Given the description of an element on the screen output the (x, y) to click on. 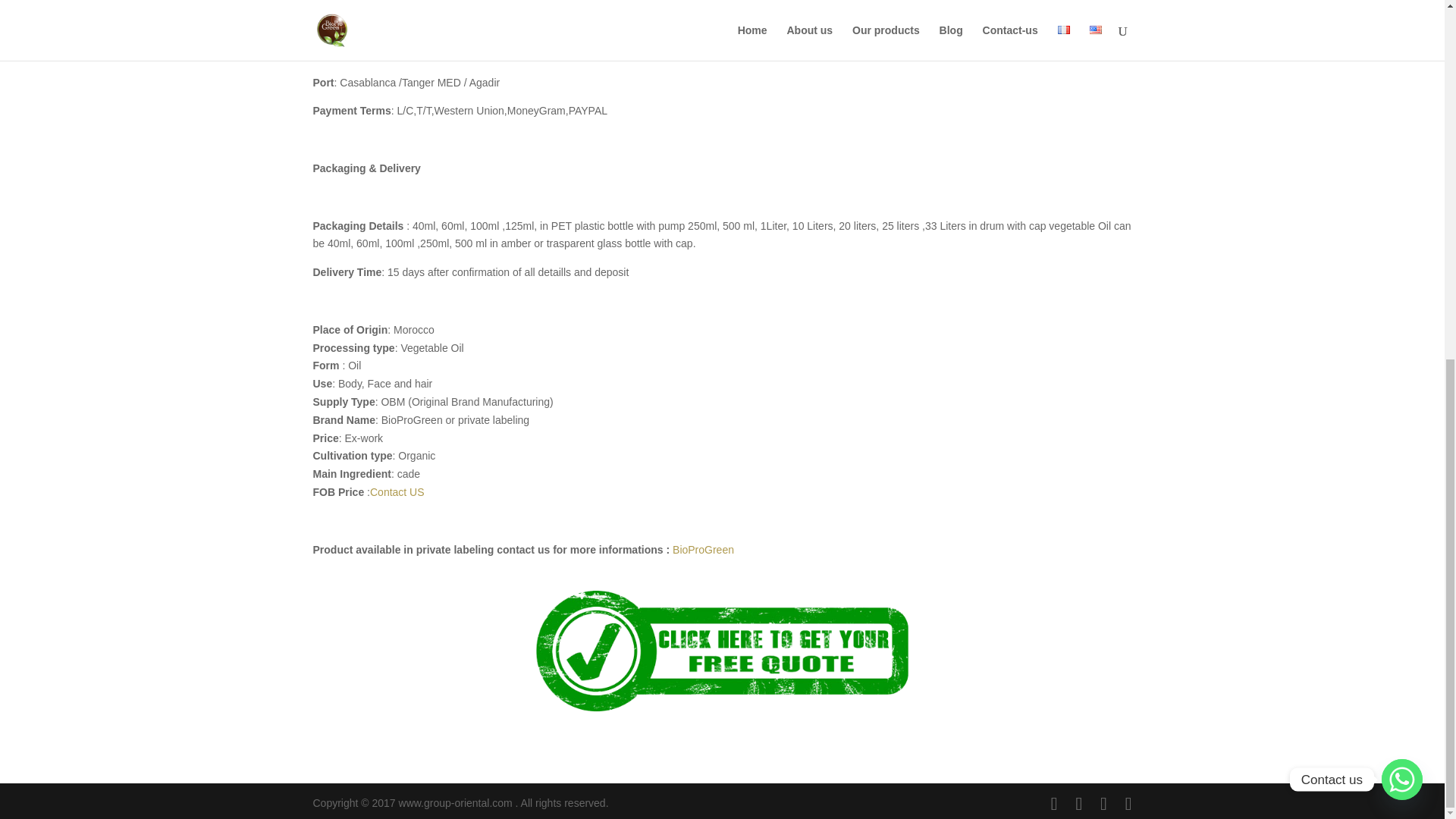
BioProGreen (702, 549)
Contact US (397, 491)
Contact us (1401, 143)
